Given the description of an element on the screen output the (x, y) to click on. 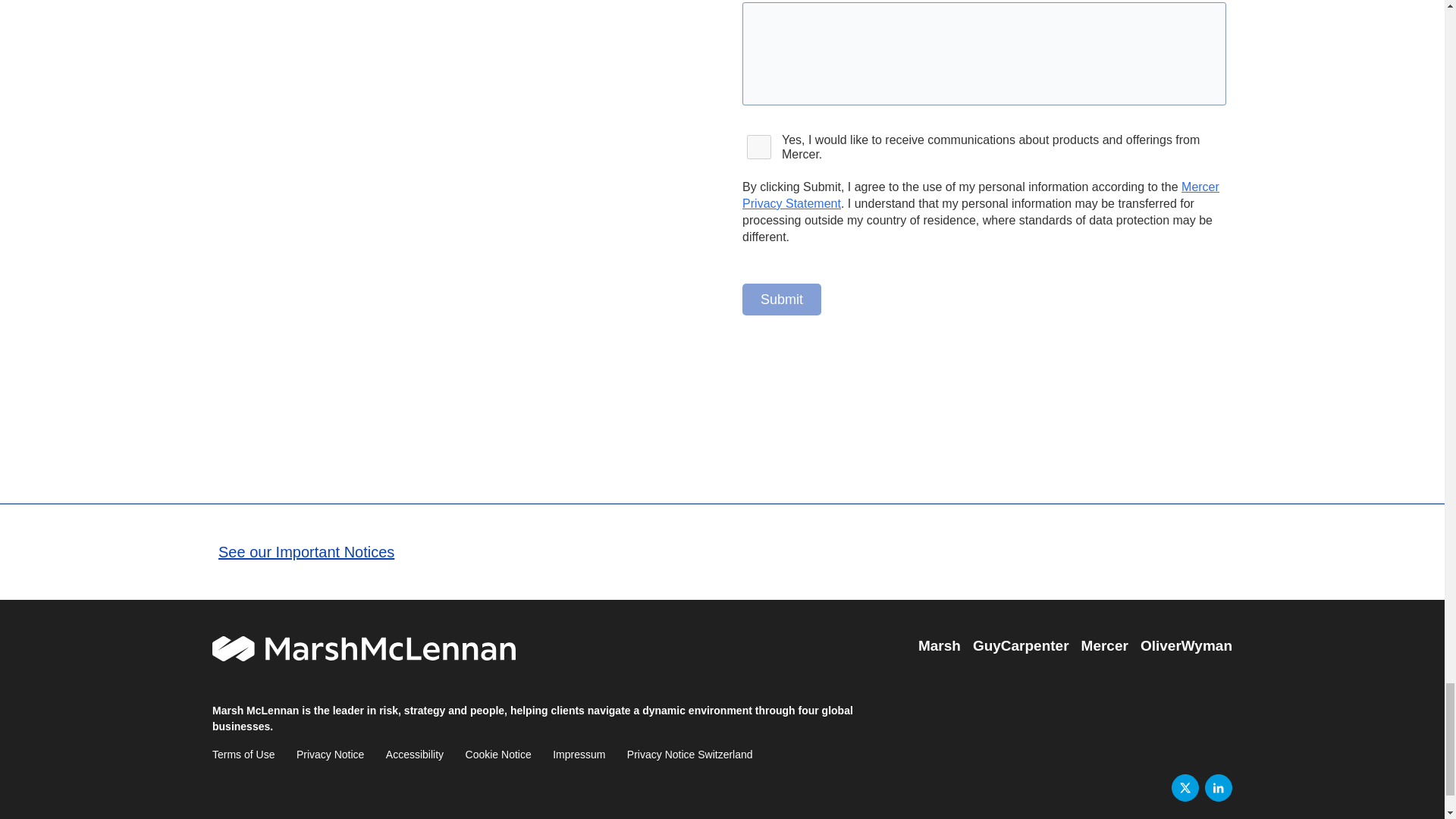
Mercer (1104, 646)
Submit (781, 299)
Mercer Privacy Statement (981, 194)
Privacy Notice (330, 754)
Privacy Notice Switzerland (689, 754)
Terms of Use (243, 754)
OliverWyman (1185, 646)
GuyCarpenter (1020, 646)
See our Important Notices (306, 551)
yes (759, 146)
Link to Mercer's Important Notices (306, 551)
Impressum (579, 754)
Marsh (939, 646)
Accessibility (414, 754)
Cookie Notice (498, 754)
